Given the description of an element on the screen output the (x, y) to click on. 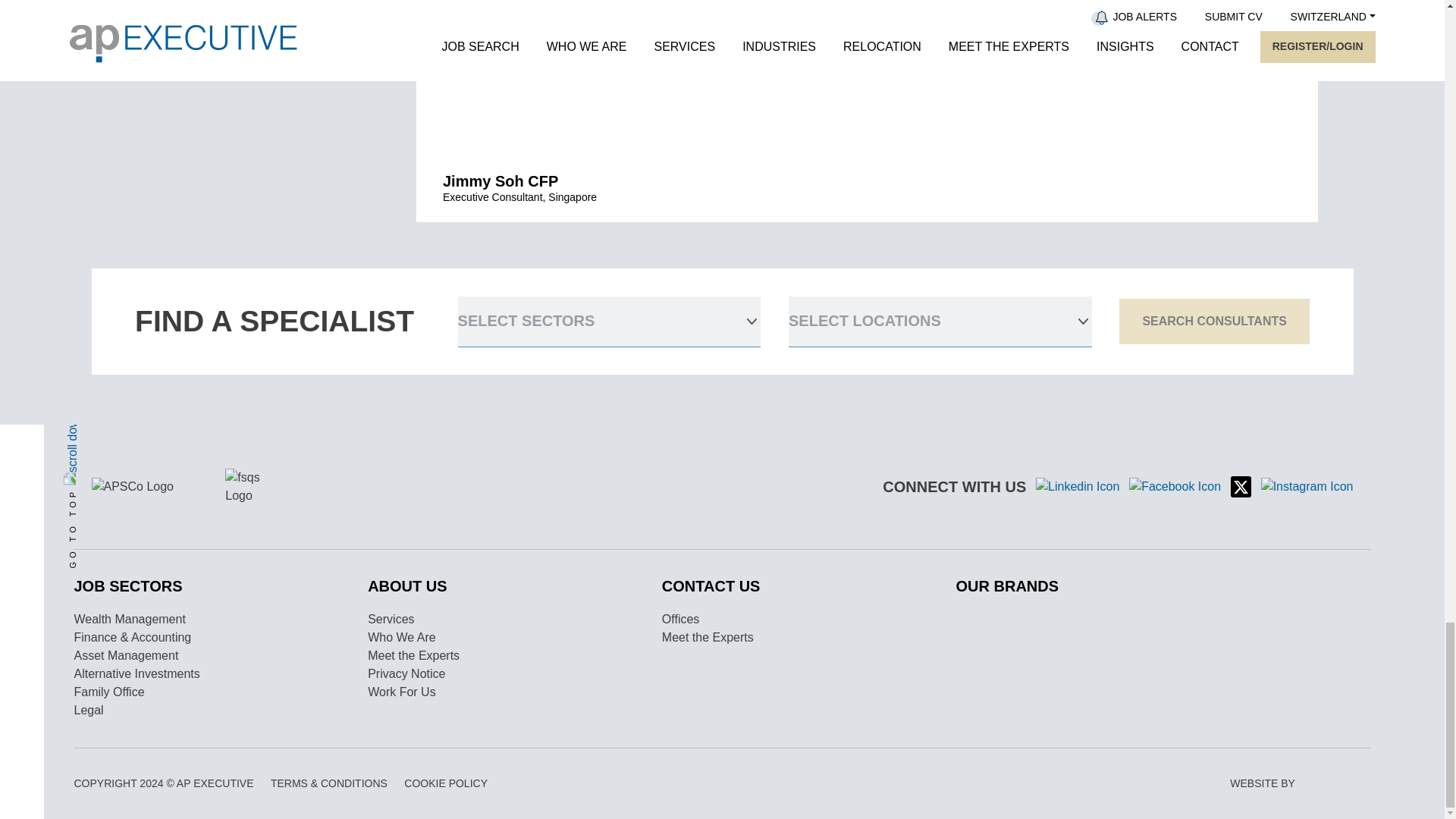
GO TO TOP (158, 384)
